Given the description of an element on the screen output the (x, y) to click on. 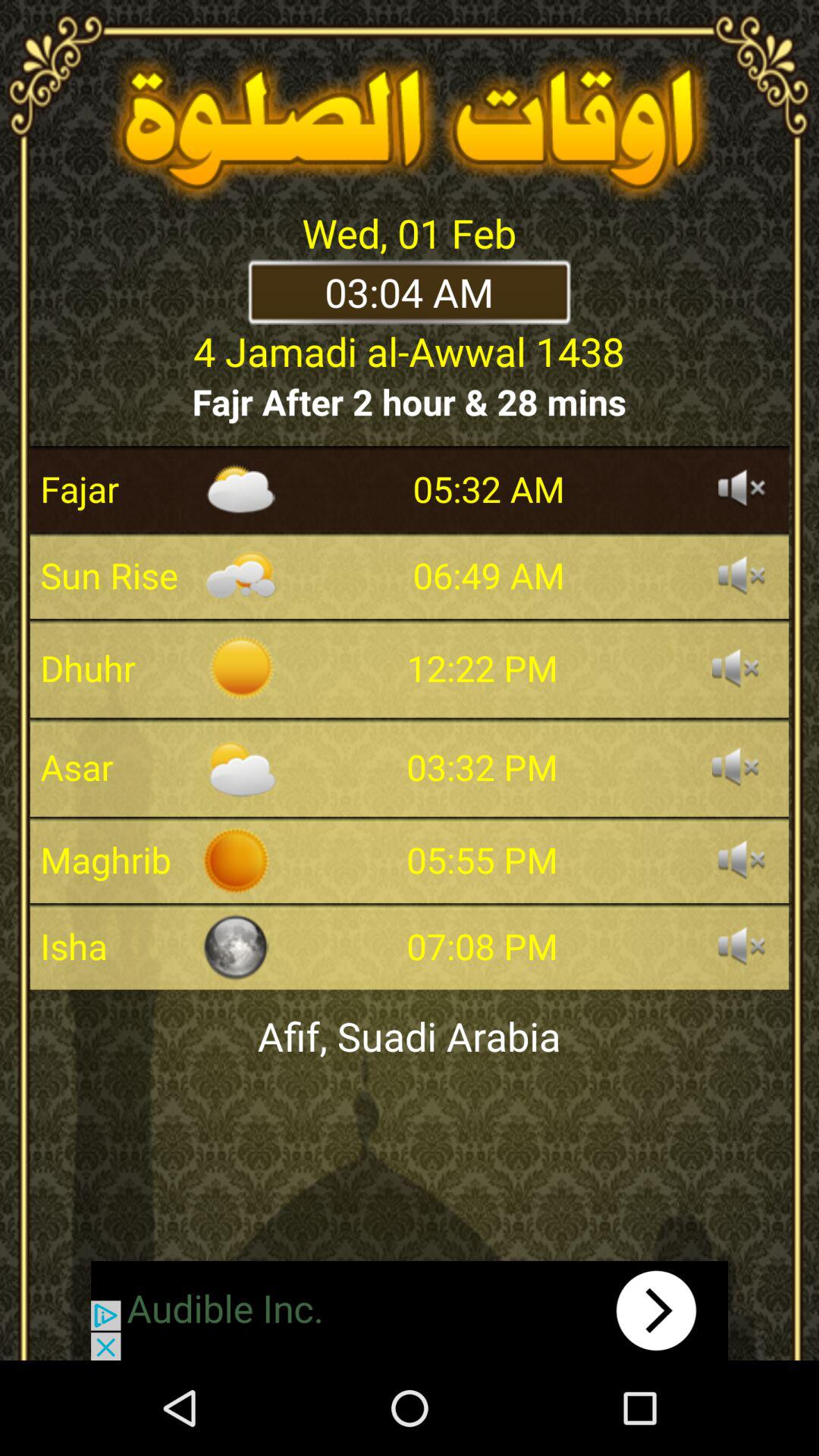
sound for the specific time (741, 946)
